Given the description of an element on the screen output the (x, y) to click on. 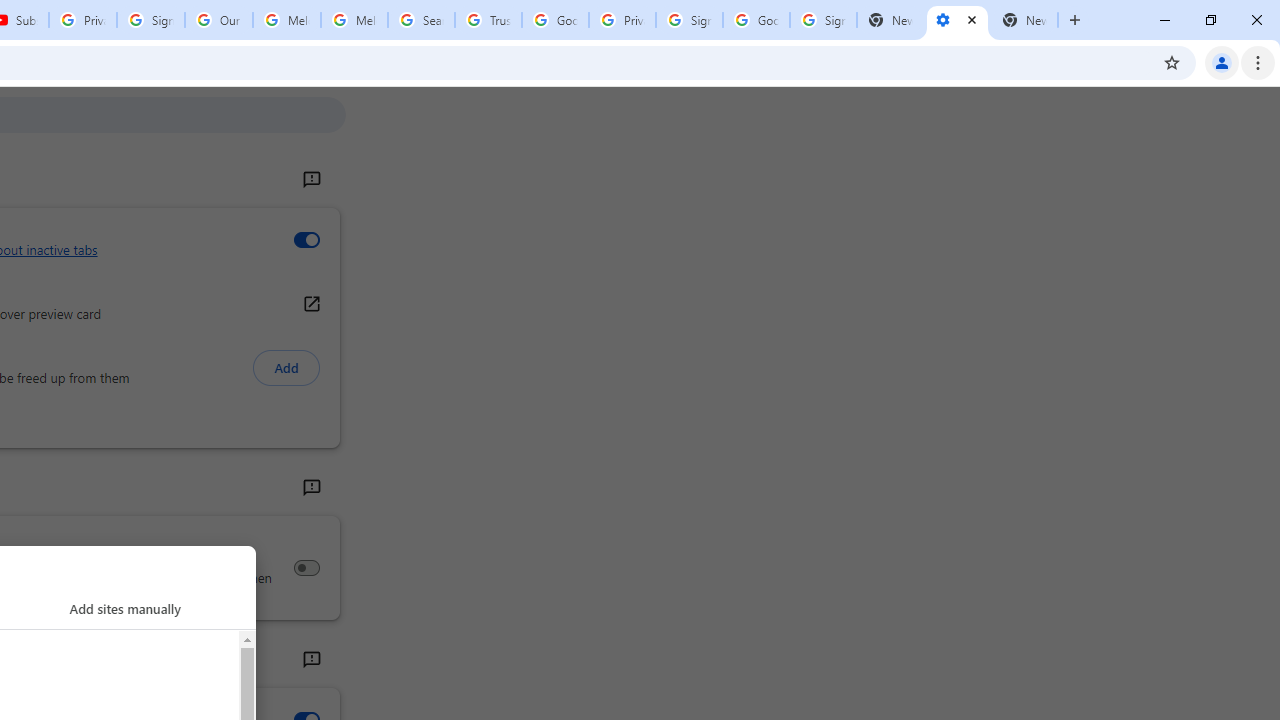
Search our Doodle Library Collection - Google Doodles (420, 20)
Sign in - Google Accounts (689, 20)
Sign in - Google Accounts (823, 20)
Google Cybersecurity Innovations - Google Safety Center (756, 20)
Sign in - Google Accounts (150, 20)
Google Ads - Sign in (555, 20)
New Tab (1024, 20)
